Given the description of an element on the screen output the (x, y) to click on. 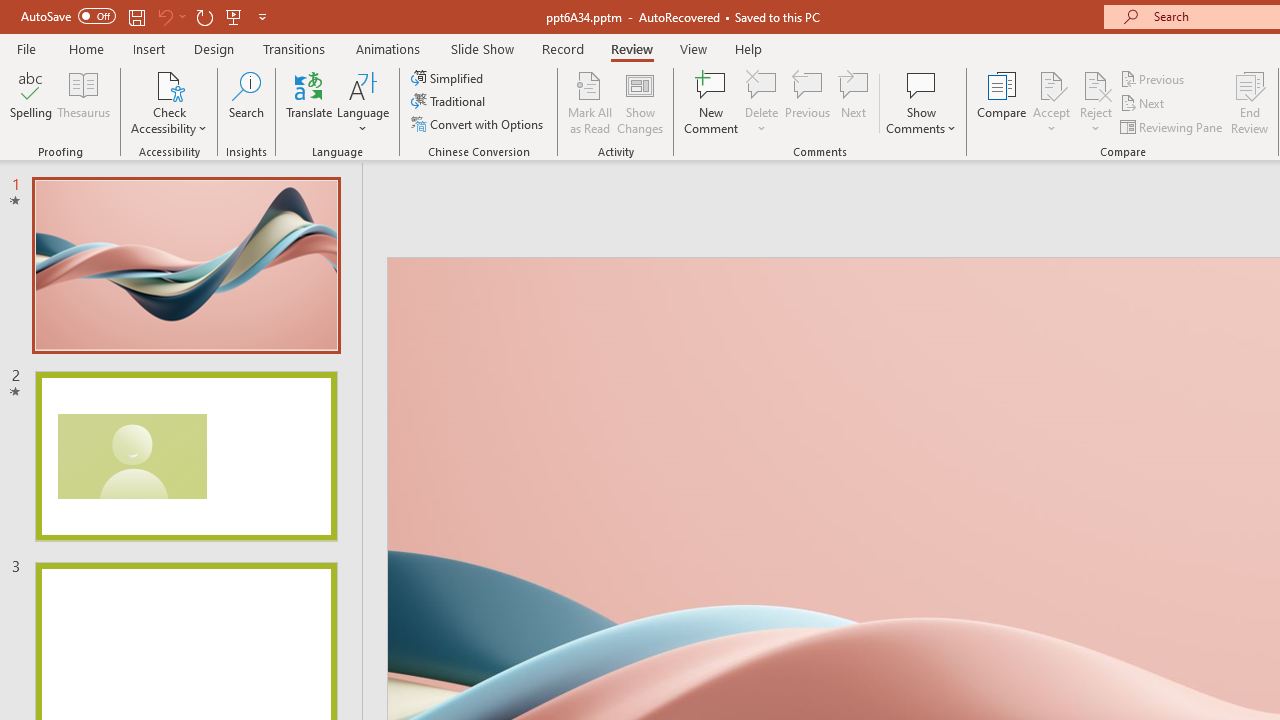
End Review (1249, 102)
Reject (1096, 102)
Thesaurus... (83, 102)
Simplified (449, 78)
Show Changes (639, 102)
Translate (309, 102)
